Given the description of an element on the screen output the (x, y) to click on. 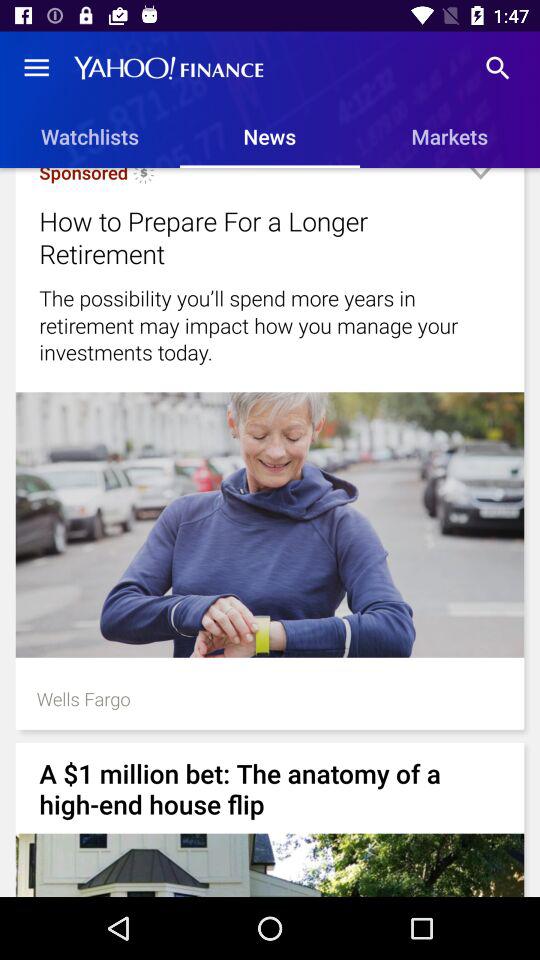
choose the item below watchlists (143, 179)
